Given the description of an element on the screen output the (x, y) to click on. 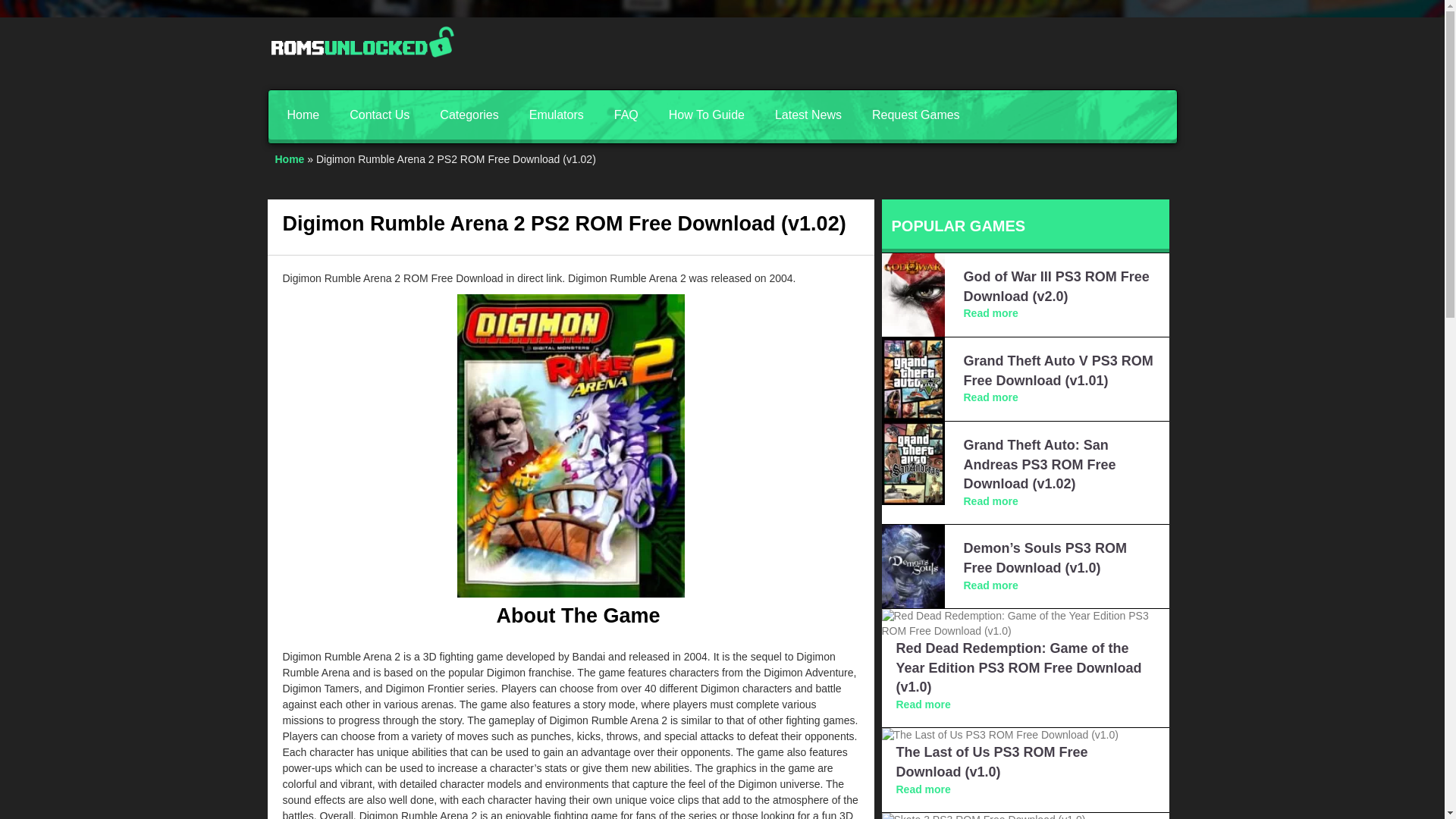
Latest News (808, 114)
Read more (989, 313)
Request Games (916, 114)
Read more (989, 397)
Contact Us (379, 114)
Categories (469, 114)
Read more (923, 704)
Read more (989, 500)
How To Guide (706, 114)
FAQ (625, 114)
Read more (989, 585)
Read more (923, 788)
Emulators (555, 114)
Home (289, 159)
Home (302, 114)
